Given the description of an element on the screen output the (x, y) to click on. 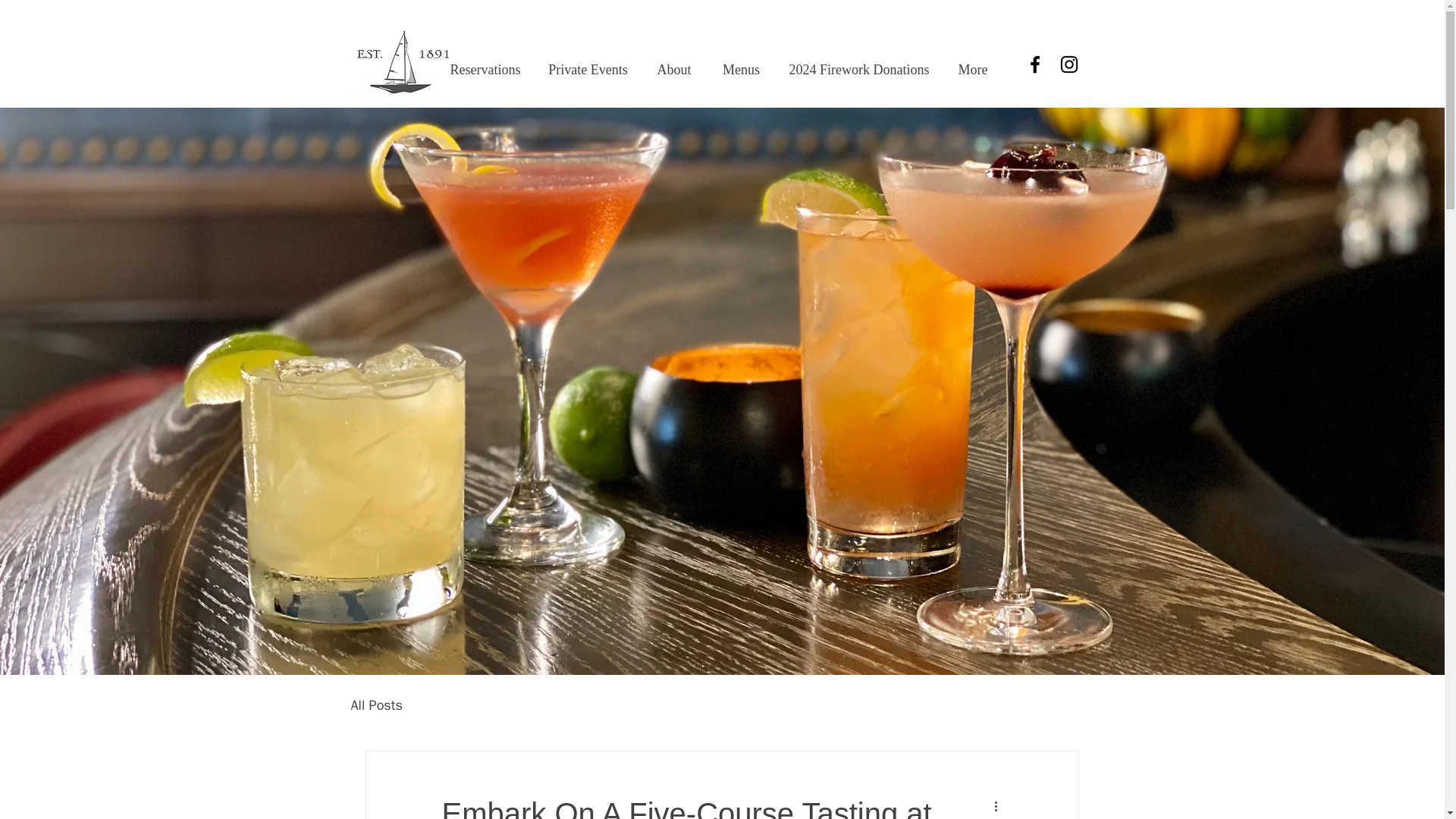
About (674, 69)
Private Events (588, 69)
2024 Firework Donations (858, 69)
Menus (740, 69)
All Posts (375, 705)
Reservations (484, 69)
